Given the description of an element on the screen output the (x, y) to click on. 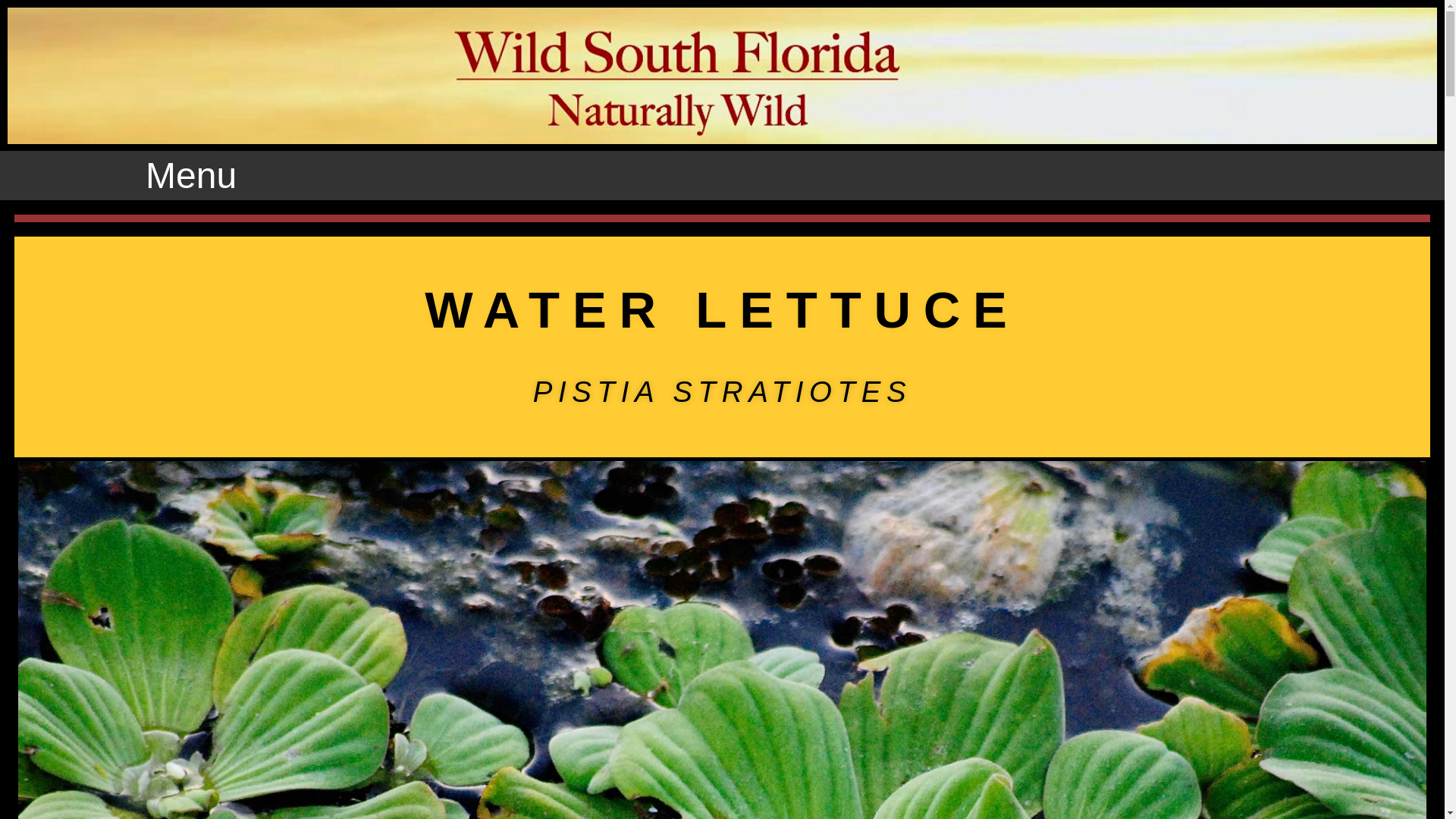
Menu (190, 174)
